Given the description of an element on the screen output the (x, y) to click on. 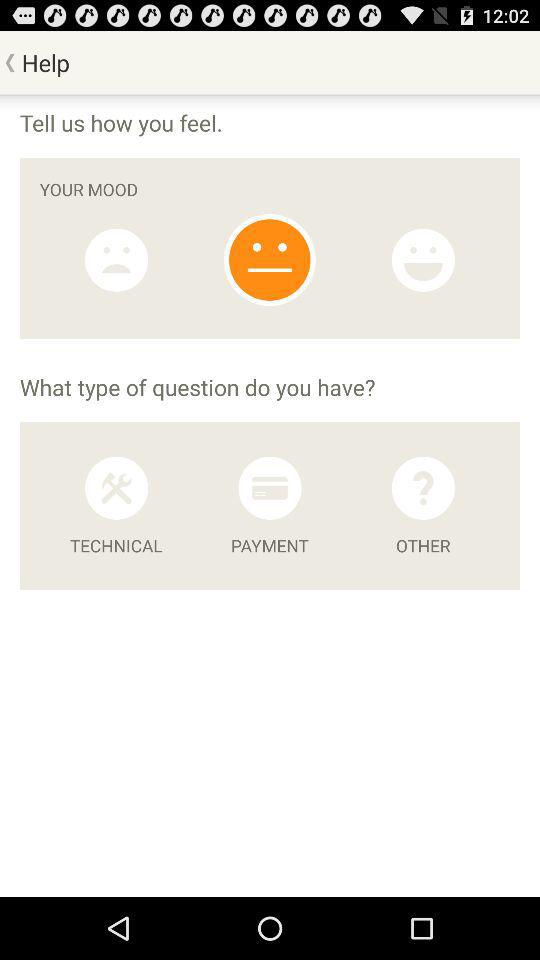
technical difficulty (116, 488)
